Given the description of an element on the screen output the (x, y) to click on. 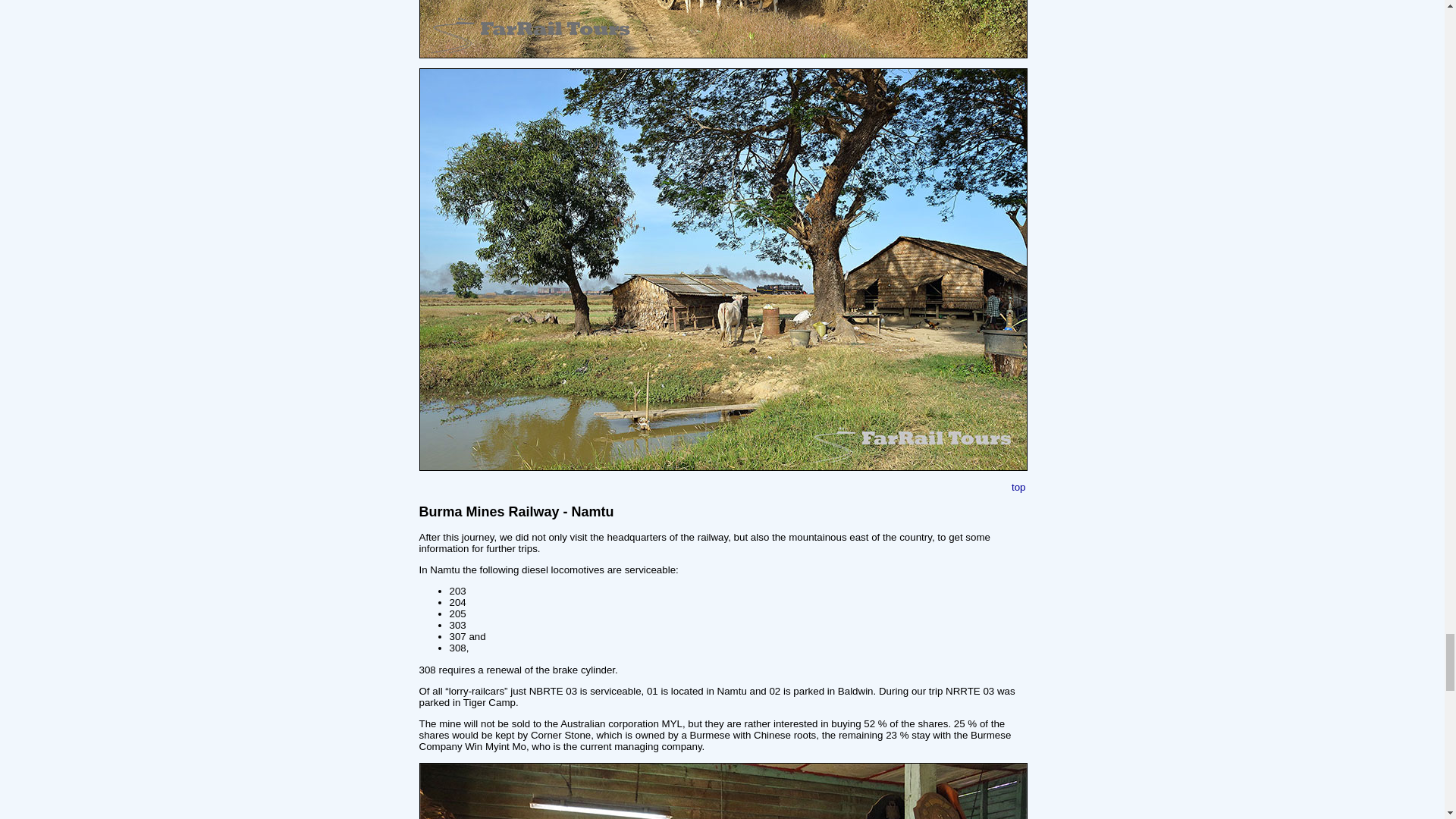
top (1018, 487)
